Given the description of an element on the screen output the (x, y) to click on. 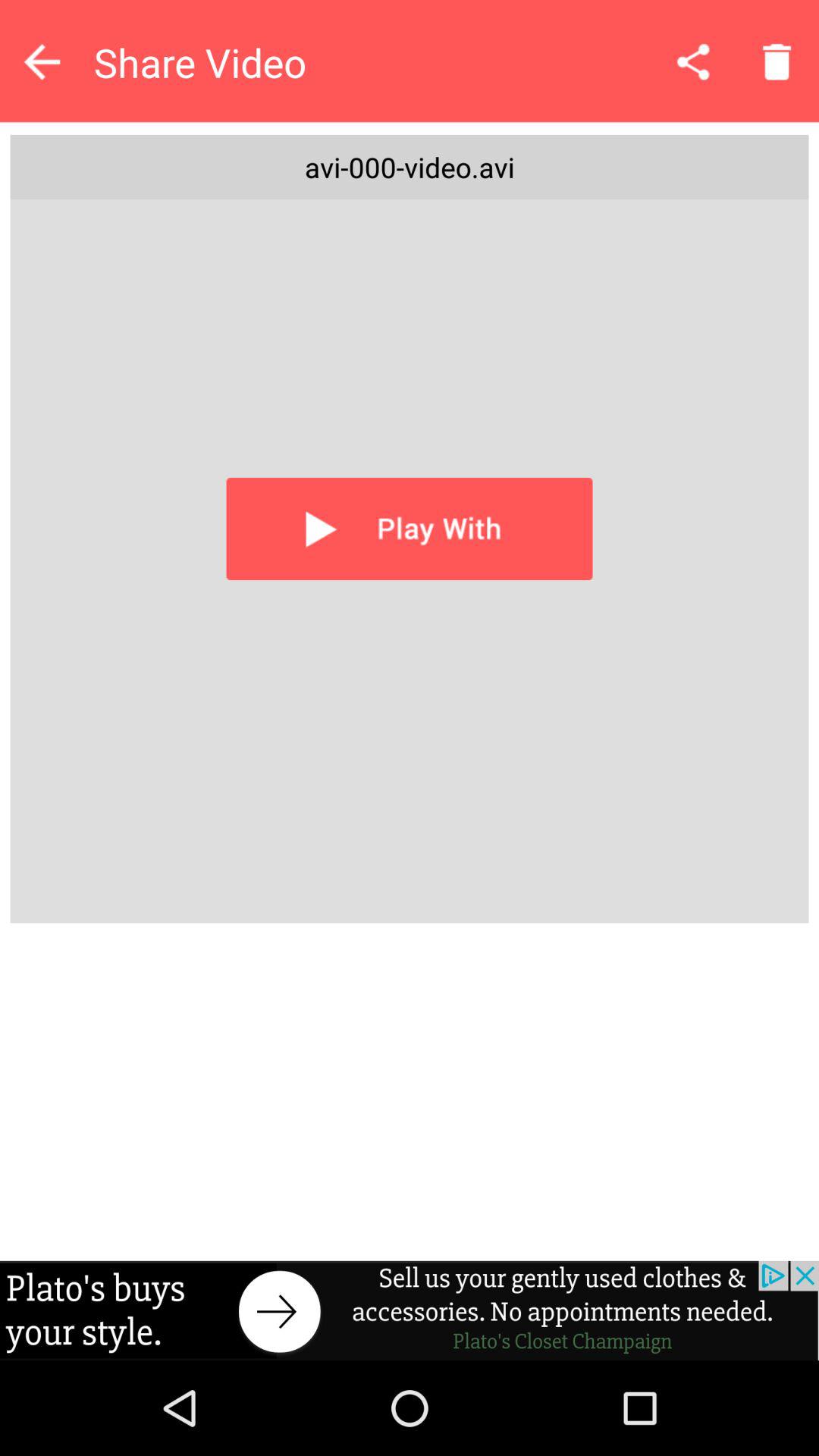
play video (409, 528)
